Given the description of an element on the screen output the (x, y) to click on. 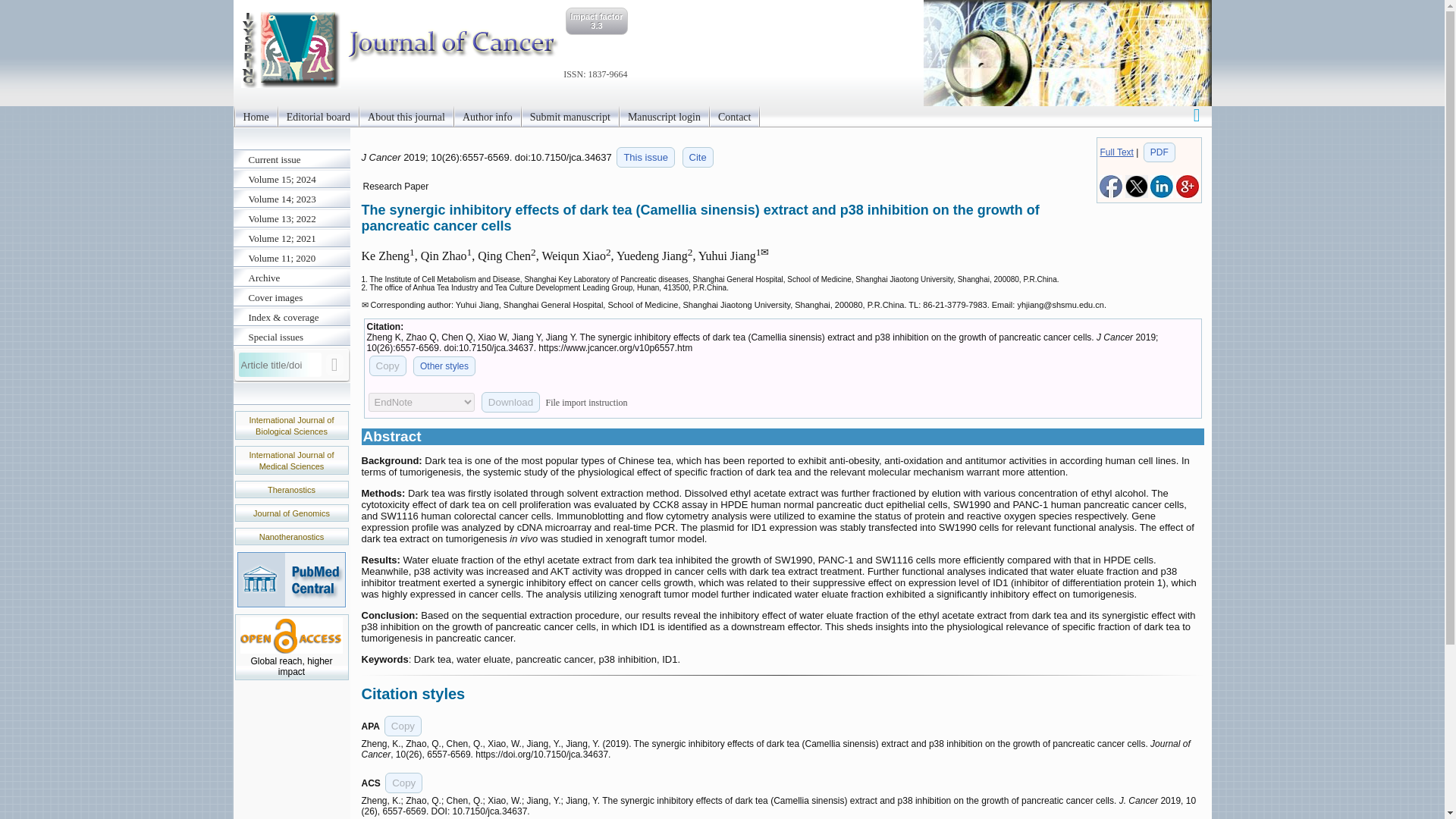
Copy to clipboard (387, 365)
About this journal (405, 117)
Copy to clipboard (403, 783)
Theranostics (291, 489)
Citation styles for this article (697, 157)
My account (1196, 113)
Search article by title or doi (334, 364)
Cover images (291, 297)
Download a file for citation software (510, 402)
Manuscript login (663, 117)
International Journal of Biological Sciences (291, 425)
Journal of Genomics (291, 512)
Submit manuscript (569, 117)
This issue (645, 157)
Share on tweeters (1136, 194)
